Given the description of an element on the screen output the (x, y) to click on. 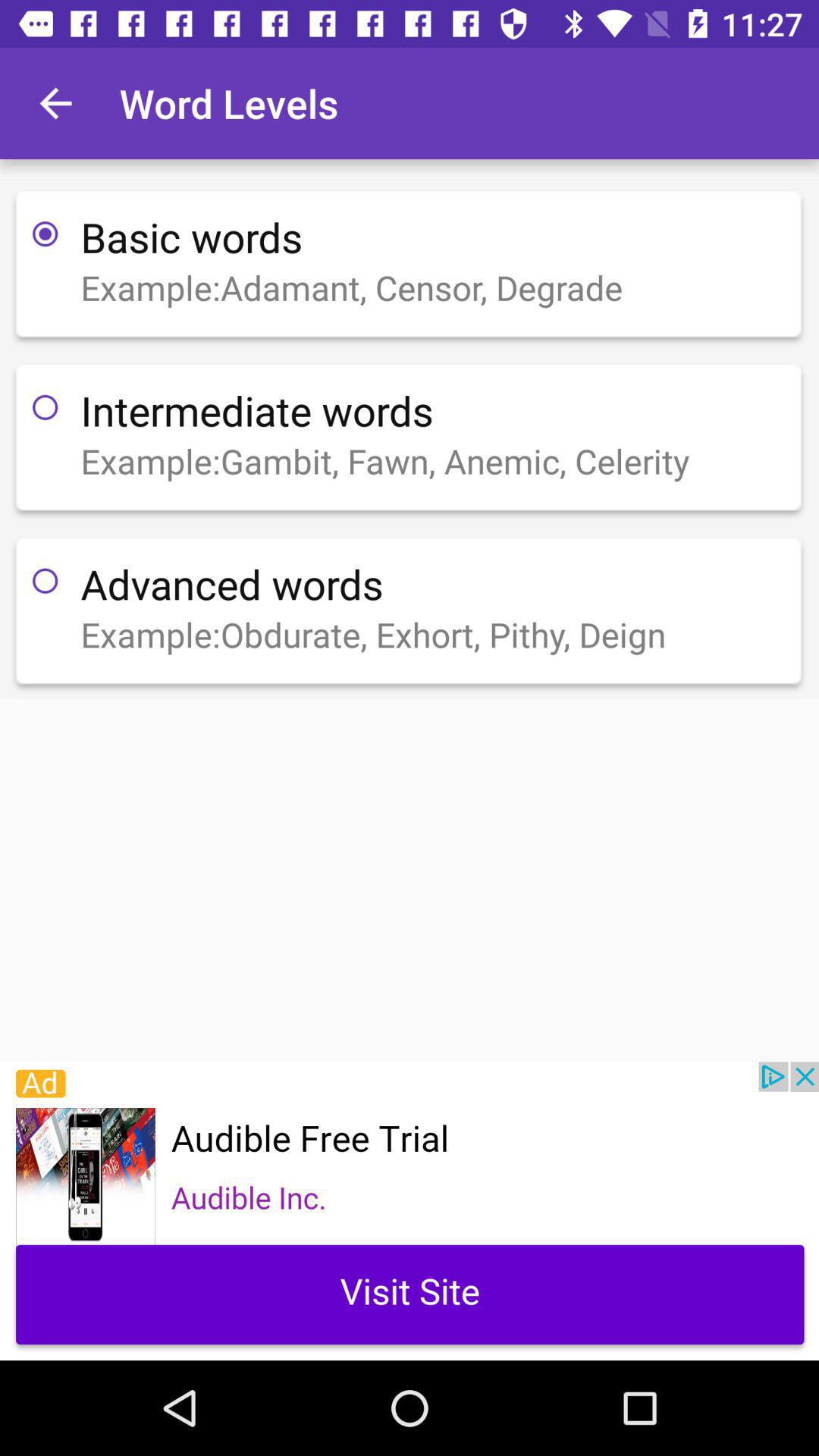
advertisement page (409, 1210)
